Given the description of an element on the screen output the (x, y) to click on. 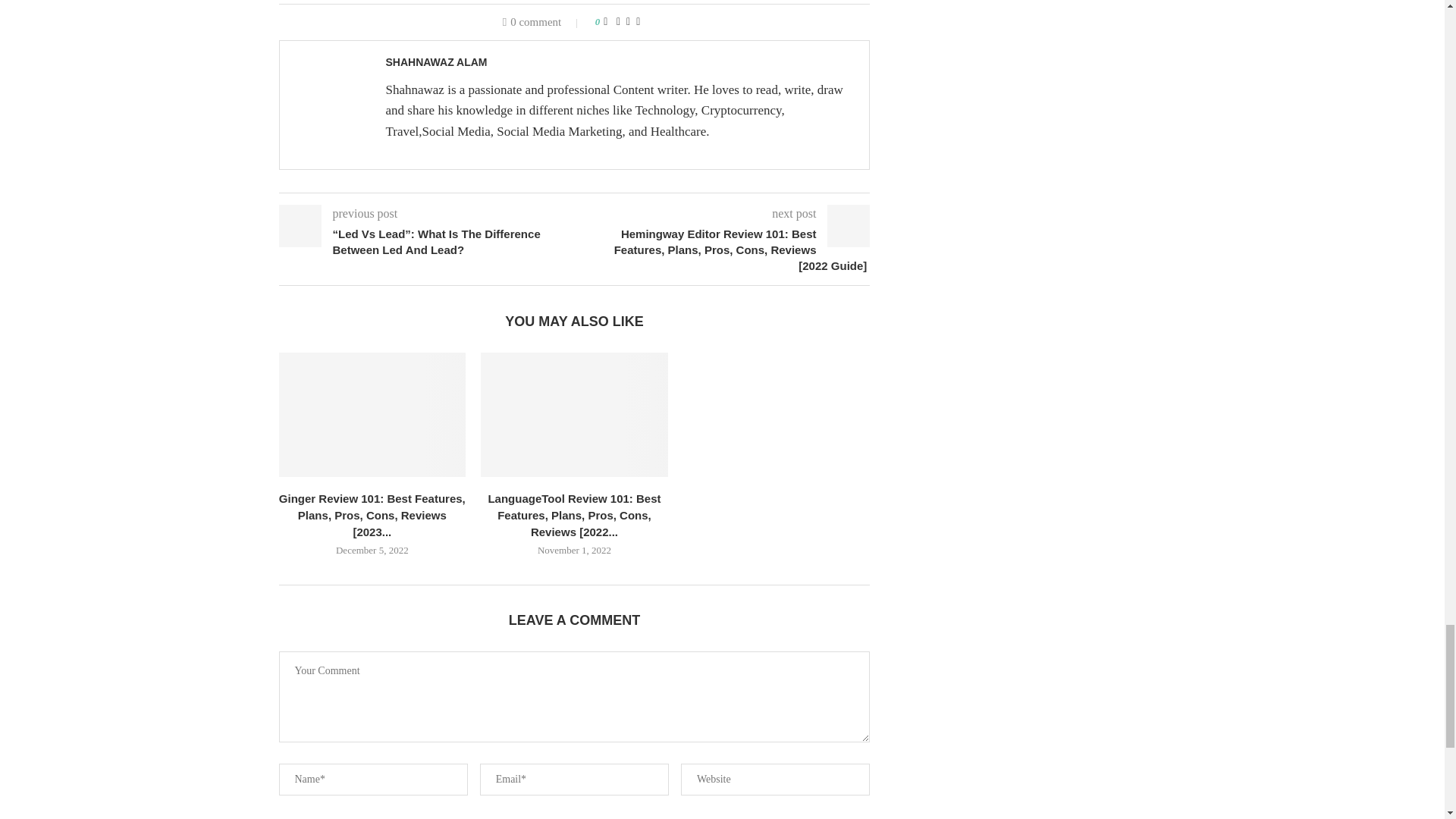
Author Shahnawaz Alam (435, 61)
